Given the description of an element on the screen output the (x, y) to click on. 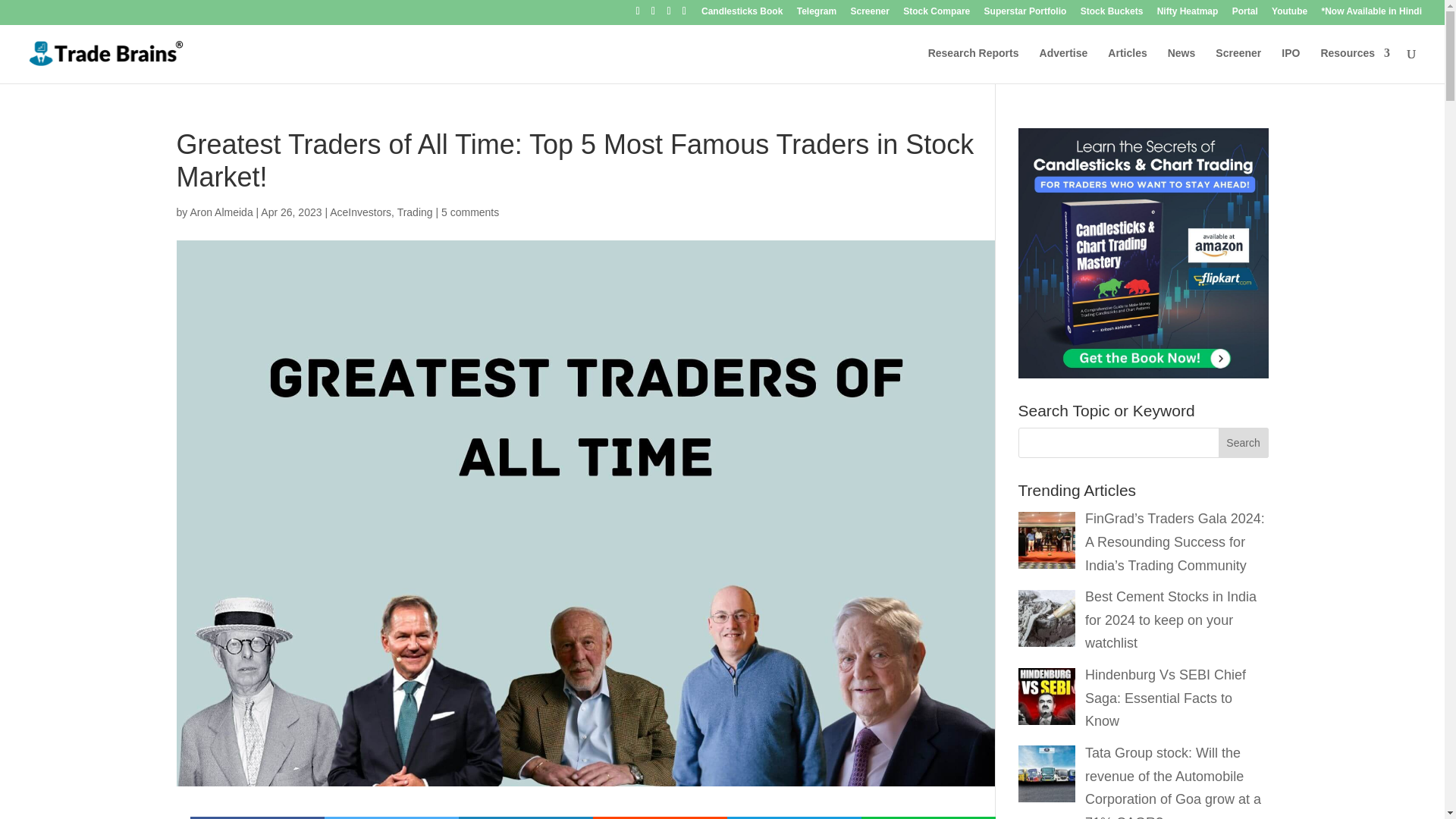
Screener (1237, 65)
Stock Compare (935, 14)
Advertise (1063, 65)
Posts by Aron Almeida (220, 212)
Research Reports (973, 65)
Resources (1355, 65)
Telegram (815, 14)
Trading (414, 212)
Search (1243, 442)
Candlesticks Book (742, 14)
